Given the description of an element on the screen output the (x, y) to click on. 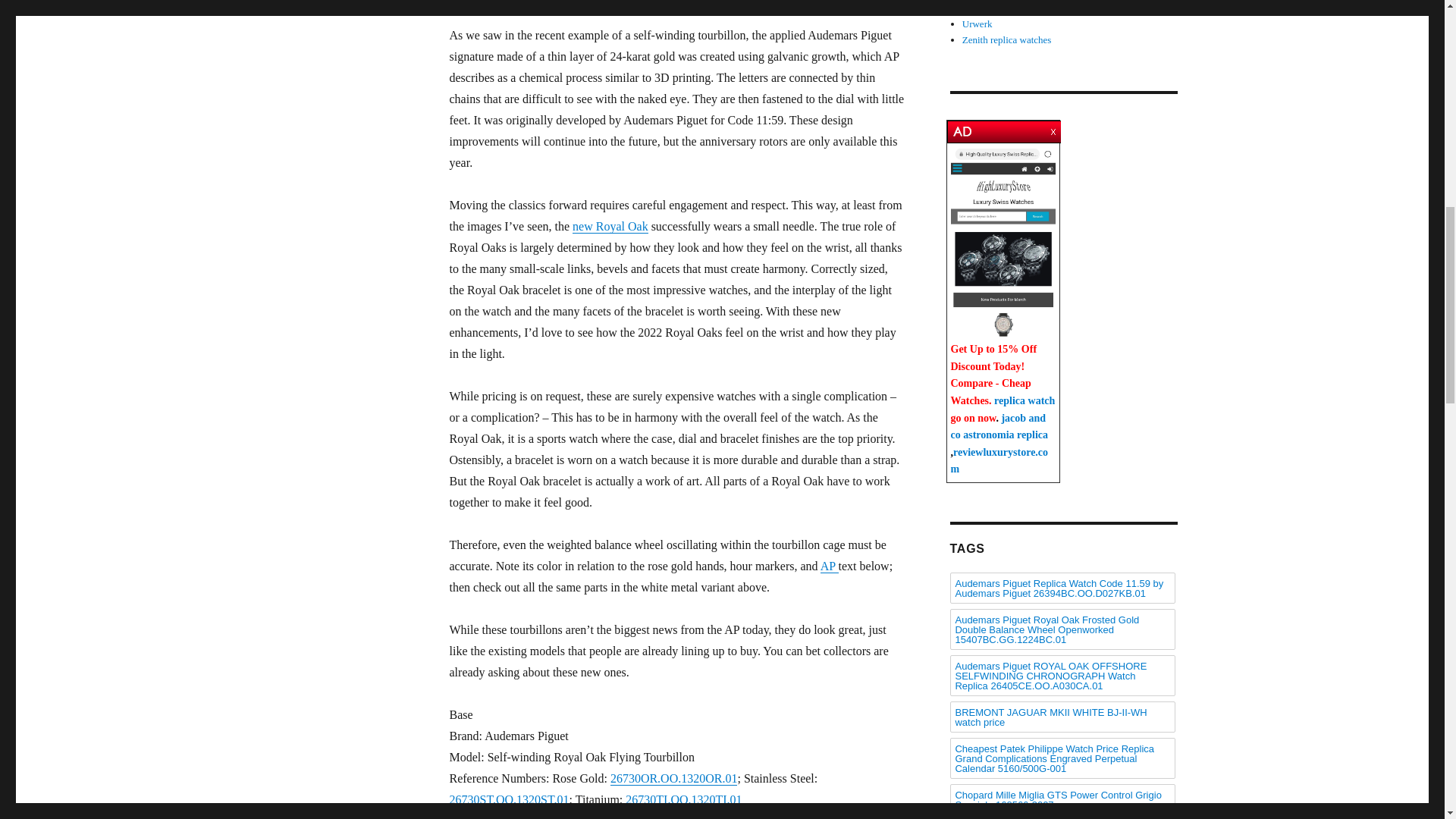
26730ST.OO.1320ST.01 (508, 799)
new Royal Oak (609, 226)
AP (829, 565)
26730TI.OO.1320TI.01 (683, 799)
26730OR.OO.1320OR.01 (674, 778)
